Given the description of an element on the screen output the (x, y) to click on. 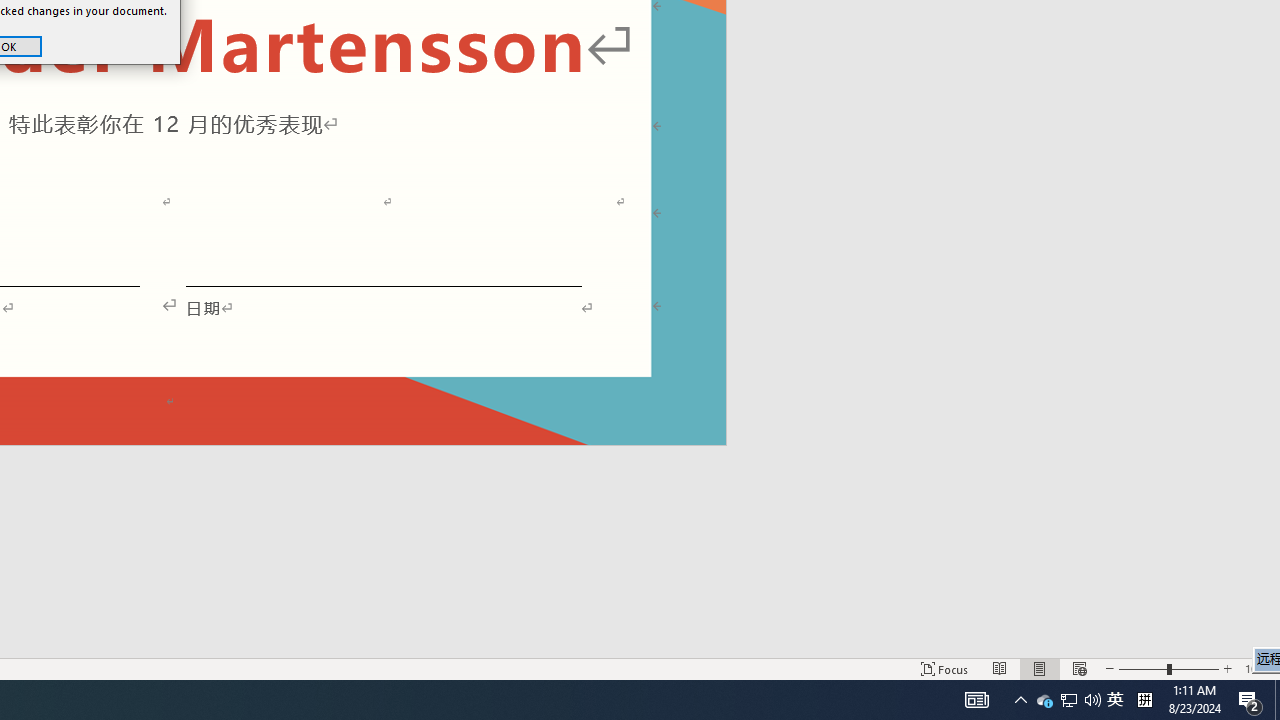
Notification Chevron (1020, 699)
AutomationID: 4105 (1069, 699)
Q2790: 100% (976, 699)
Zoom 100% (1092, 699)
Tray Input Indicator - Chinese (Simplified, China) (1044, 699)
Show desktop (1258, 668)
